Given the description of an element on the screen output the (x, y) to click on. 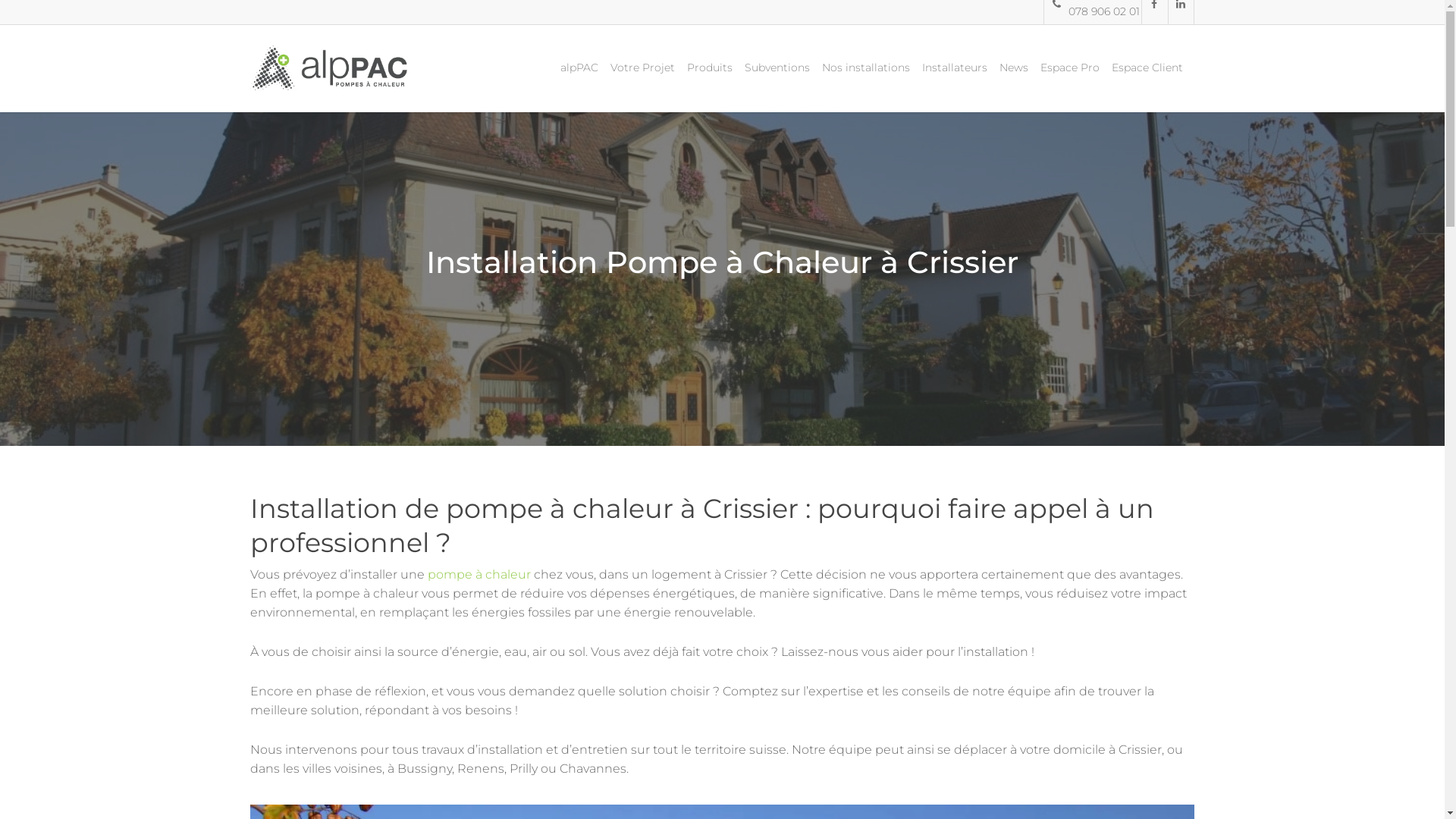
Produits Element type: text (709, 78)
Votre Projet Element type: text (642, 78)
Nos installations Element type: text (866, 78)
alpPAC Element type: text (579, 78)
Espace Client Element type: text (1147, 78)
Espace Pro Element type: text (1069, 78)
S'inscrire Element type: text (758, 503)
News Element type: text (1013, 78)
Installateurs Element type: text (954, 78)
Subventions Element type: text (776, 78)
078 906 02 01 Element type: text (1091, 12)
